Given the description of an element on the screen output the (x, y) to click on. 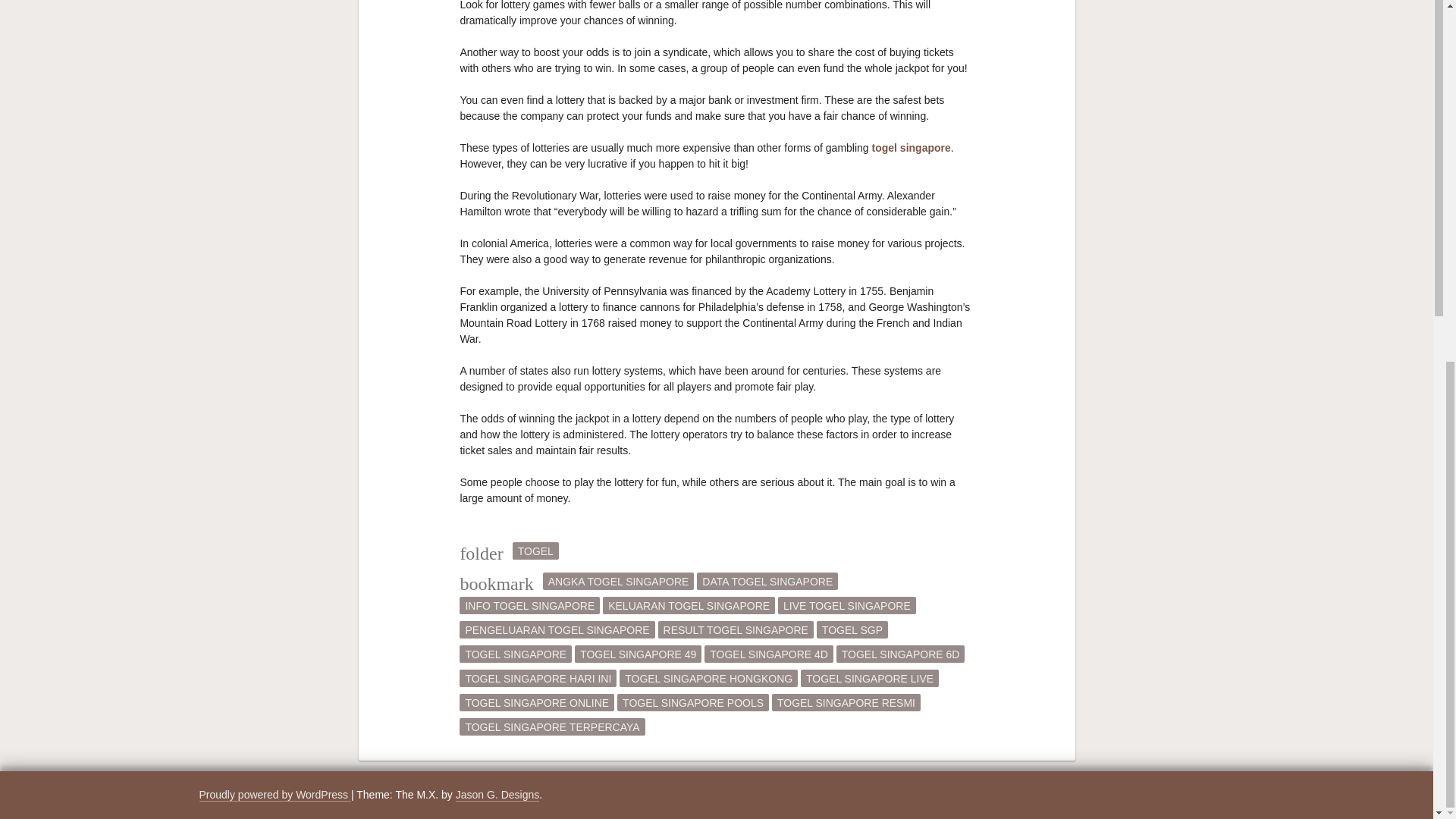
TOGEL SINGAPORE TERPERCAYA (552, 726)
TOGEL SINGAPORE POOLS (692, 702)
TOGEL SINGAPORE 49 (638, 653)
TOGEL SGP (852, 629)
TOGEL SINGAPORE (516, 653)
INFO TOGEL SINGAPORE (529, 605)
DATA TOGEL SINGAPORE (767, 580)
TOGEL SINGAPORE HONGKONG (708, 678)
RESULT TOGEL SINGAPORE (735, 629)
KELUARAN TOGEL SINGAPORE (688, 605)
